Given the description of an element on the screen output the (x, y) to click on. 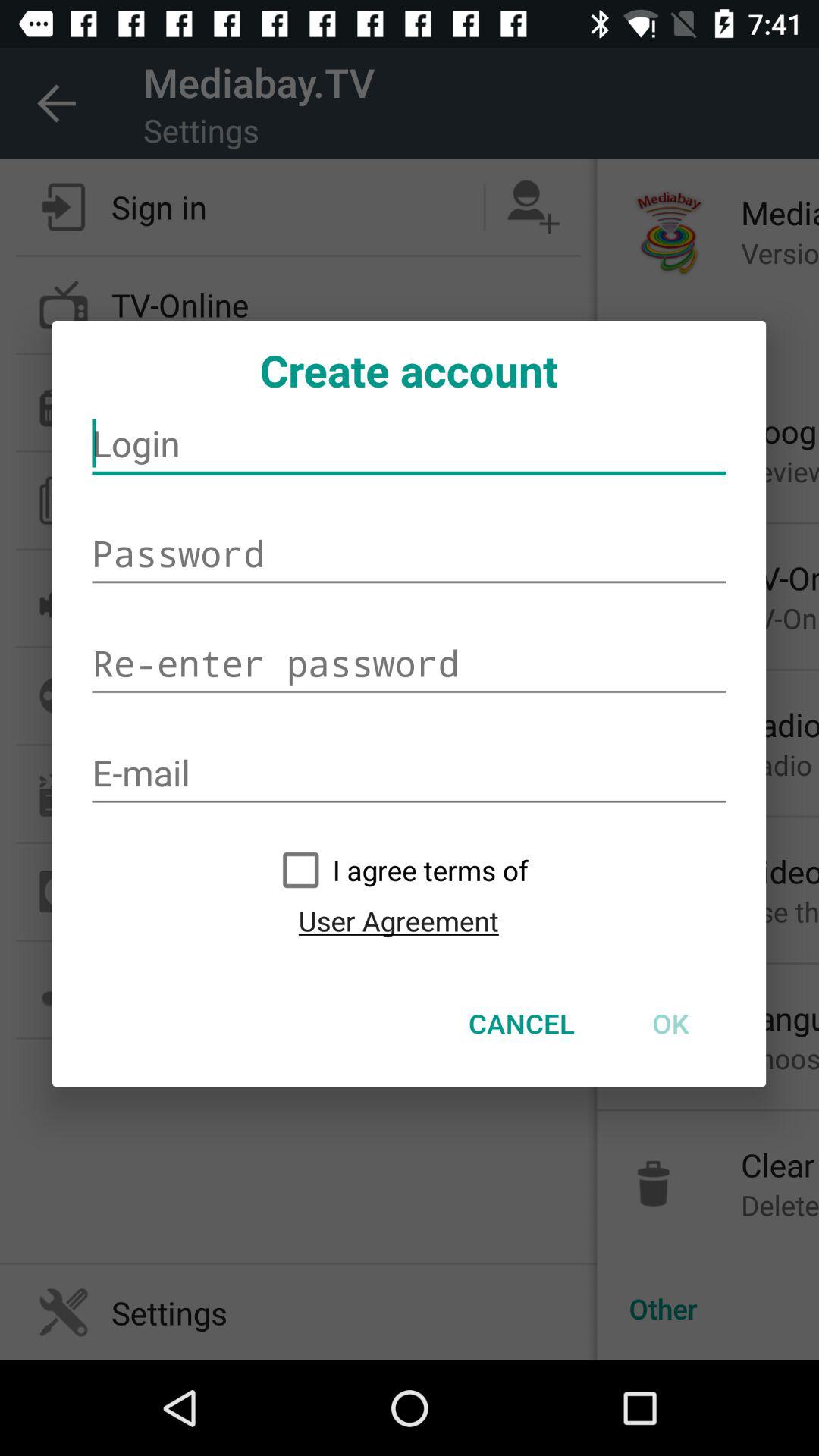
press the icon below the user agreement (521, 1022)
